Given the description of an element on the screen output the (x, y) to click on. 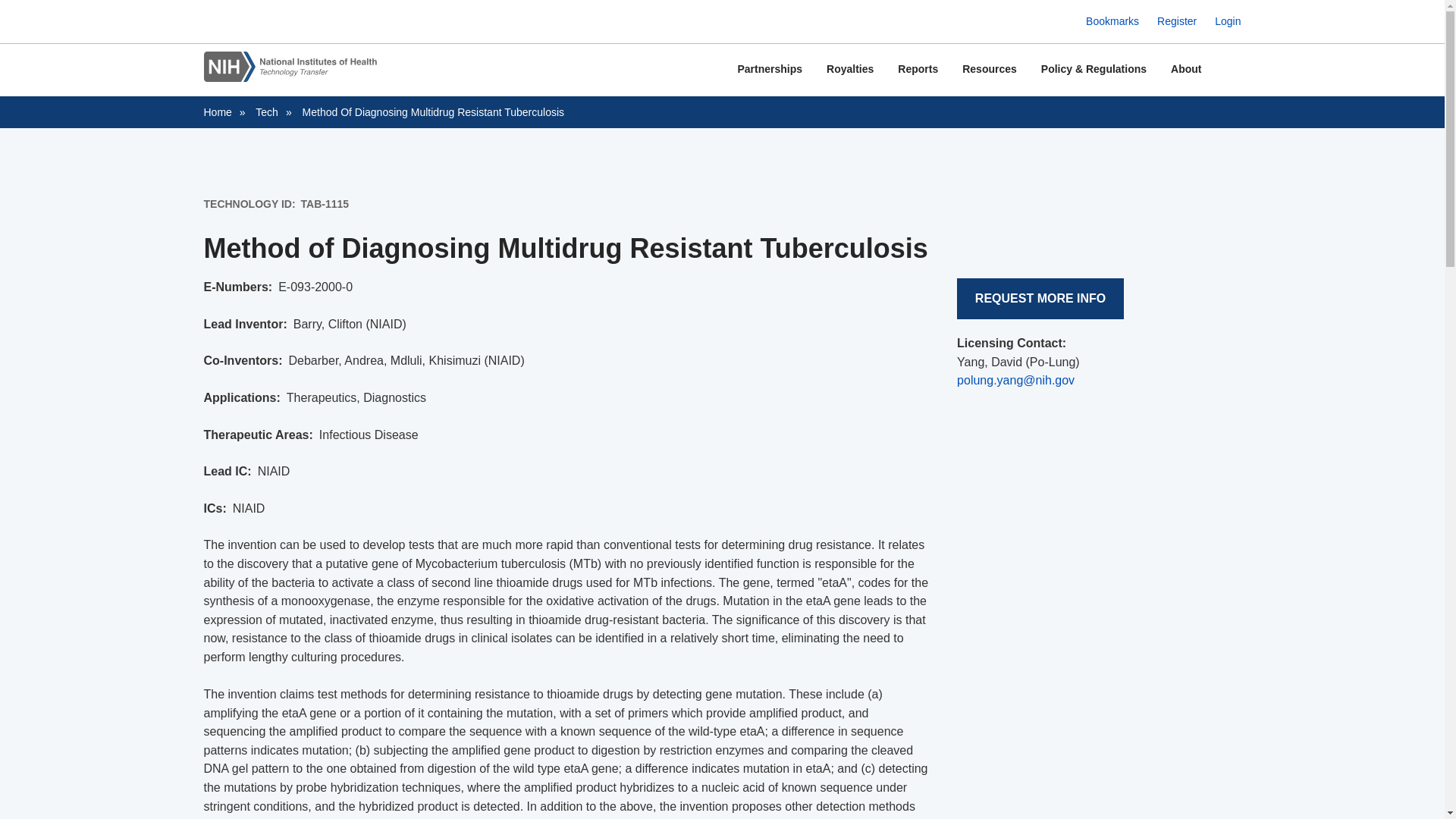
Reports (917, 69)
Royalties (849, 69)
Bookmarks (1112, 21)
Partnerships (769, 69)
Skip to main content (721, 1)
Register (1176, 21)
Login (1227, 21)
